Given the description of an element on the screen output the (x, y) to click on. 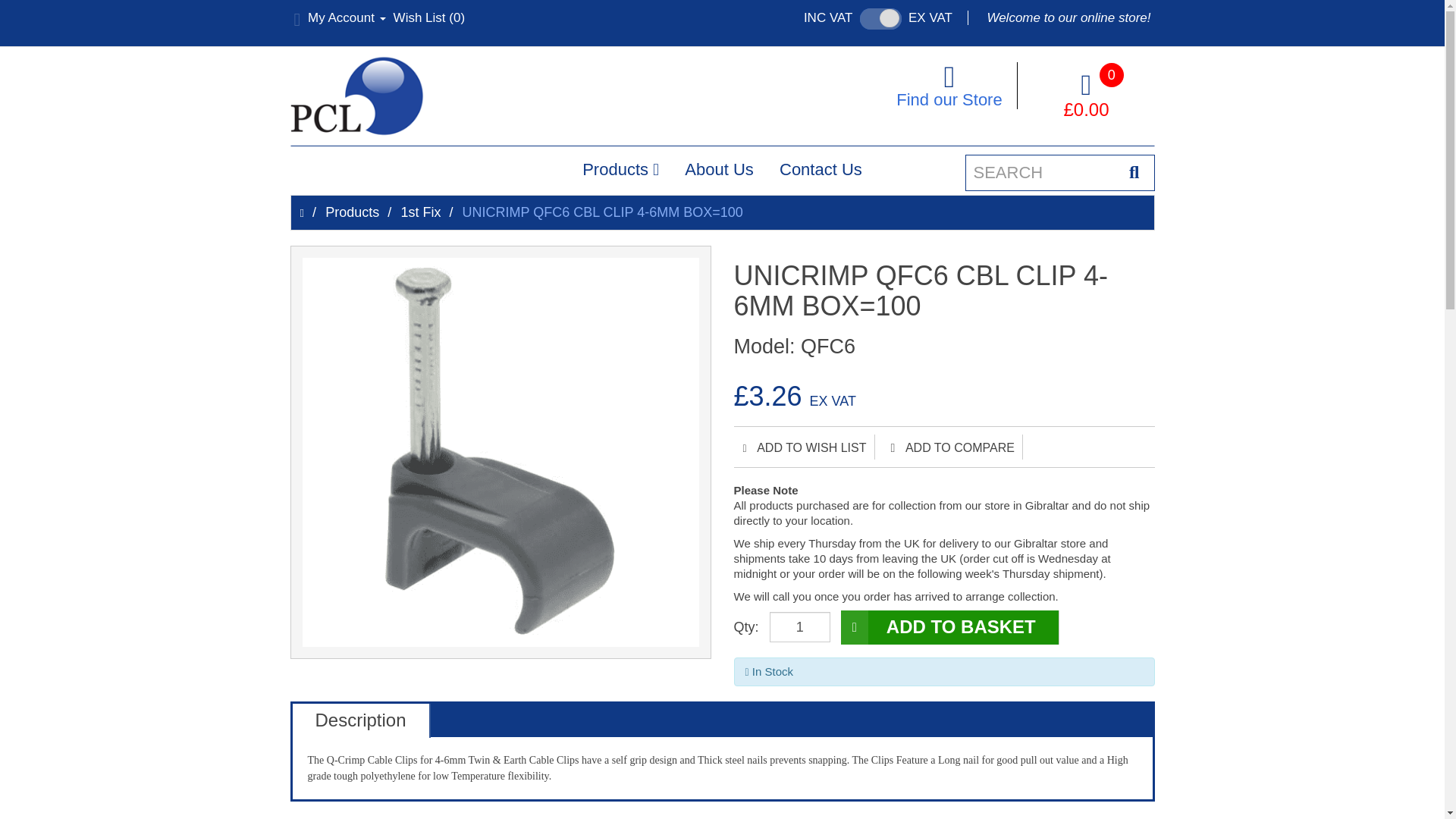
1 (799, 626)
PCL (356, 96)
My Account (339, 17)
Find our Store (948, 85)
ADD TO WISH LIST (804, 446)
ADD TO COMPARE (952, 446)
1st Fix (420, 212)
About Us (718, 169)
Products (619, 169)
Products (351, 212)
Contact Us (820, 169)
My Account (339, 17)
